Given the description of an element on the screen output the (x, y) to click on. 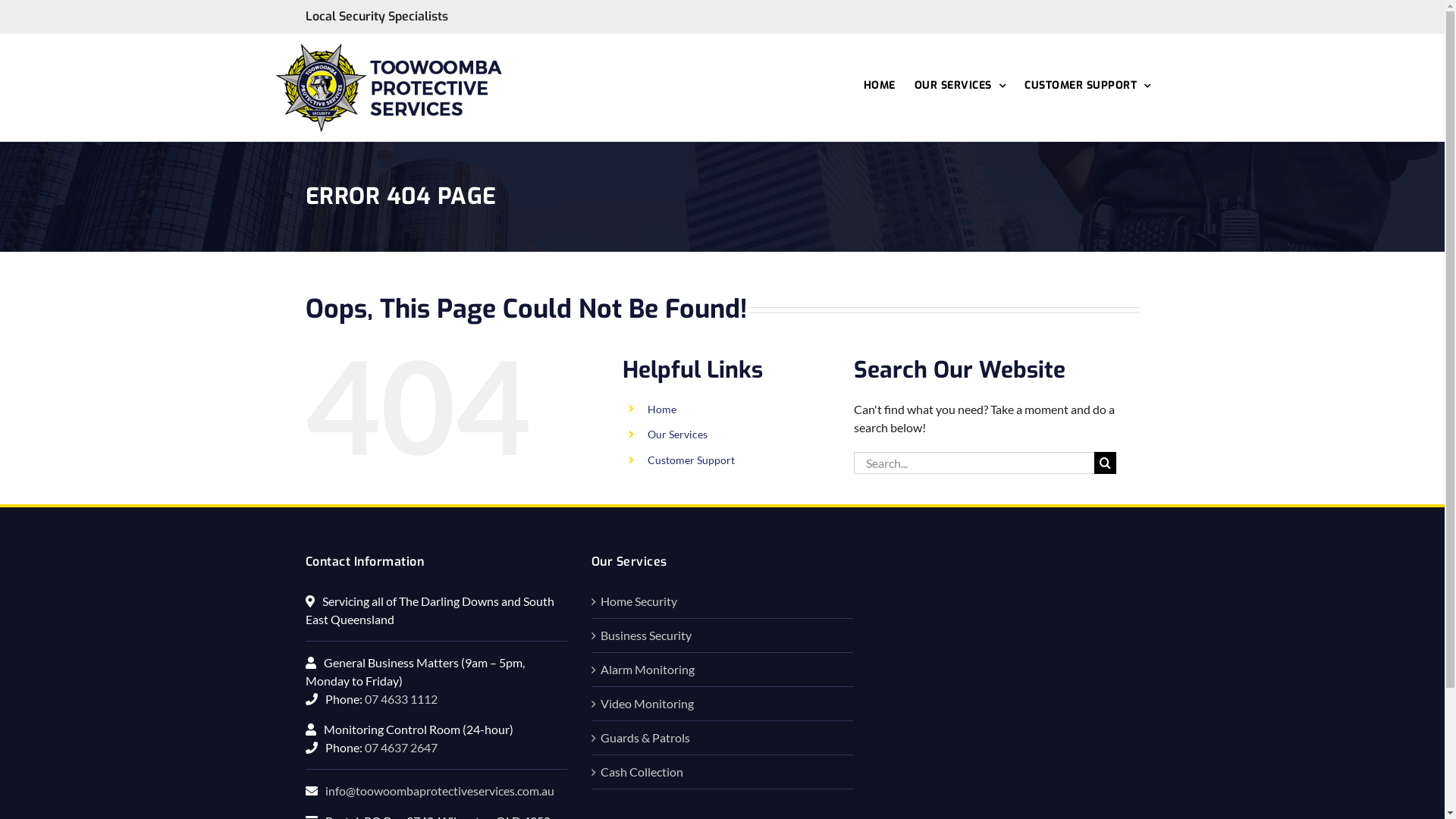
07 4637 2647 Element type: text (400, 747)
CUSTOMER SUPPORT Element type: text (1087, 85)
HOME Element type: text (878, 85)
Business Security Element type: text (722, 635)
info@toowoombaprotectiveservices.com.au Element type: text (438, 790)
Guards & Patrols Element type: text (722, 737)
OUR SERVICES Element type: text (960, 85)
Cash Collection Element type: text (722, 771)
Video Monitoring Element type: text (722, 703)
Home Security Element type: text (722, 601)
Customer Support Element type: text (690, 459)
07 4633 1112 Element type: text (400, 698)
Home Element type: text (661, 408)
Our Services Element type: text (677, 433)
Alarm Monitoring Element type: text (722, 669)
